Given the description of an element on the screen output the (x, y) to click on. 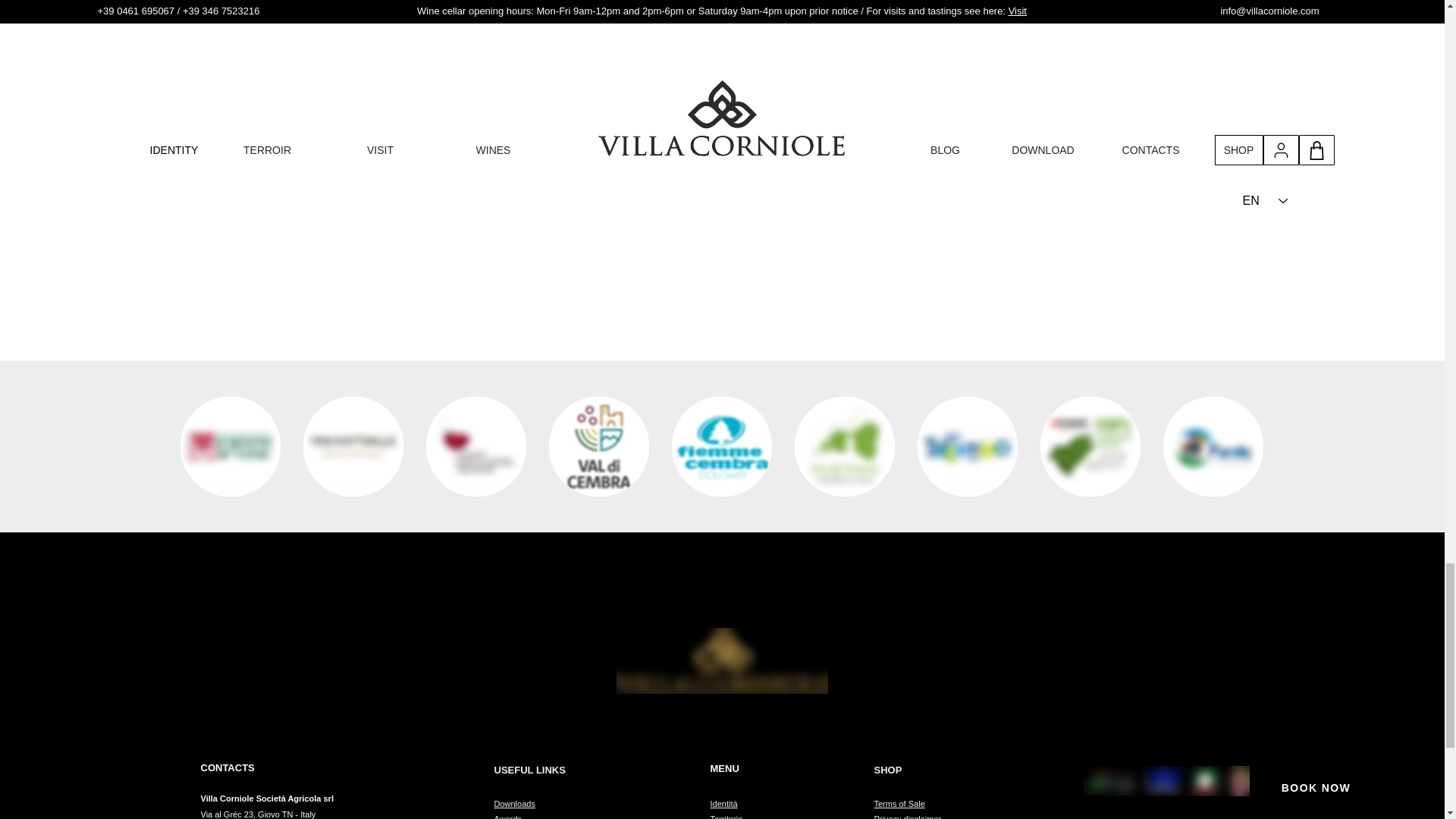
Territorio (726, 816)
Downloads (515, 803)
Awards (508, 816)
